Given the description of an element on the screen output the (x, y) to click on. 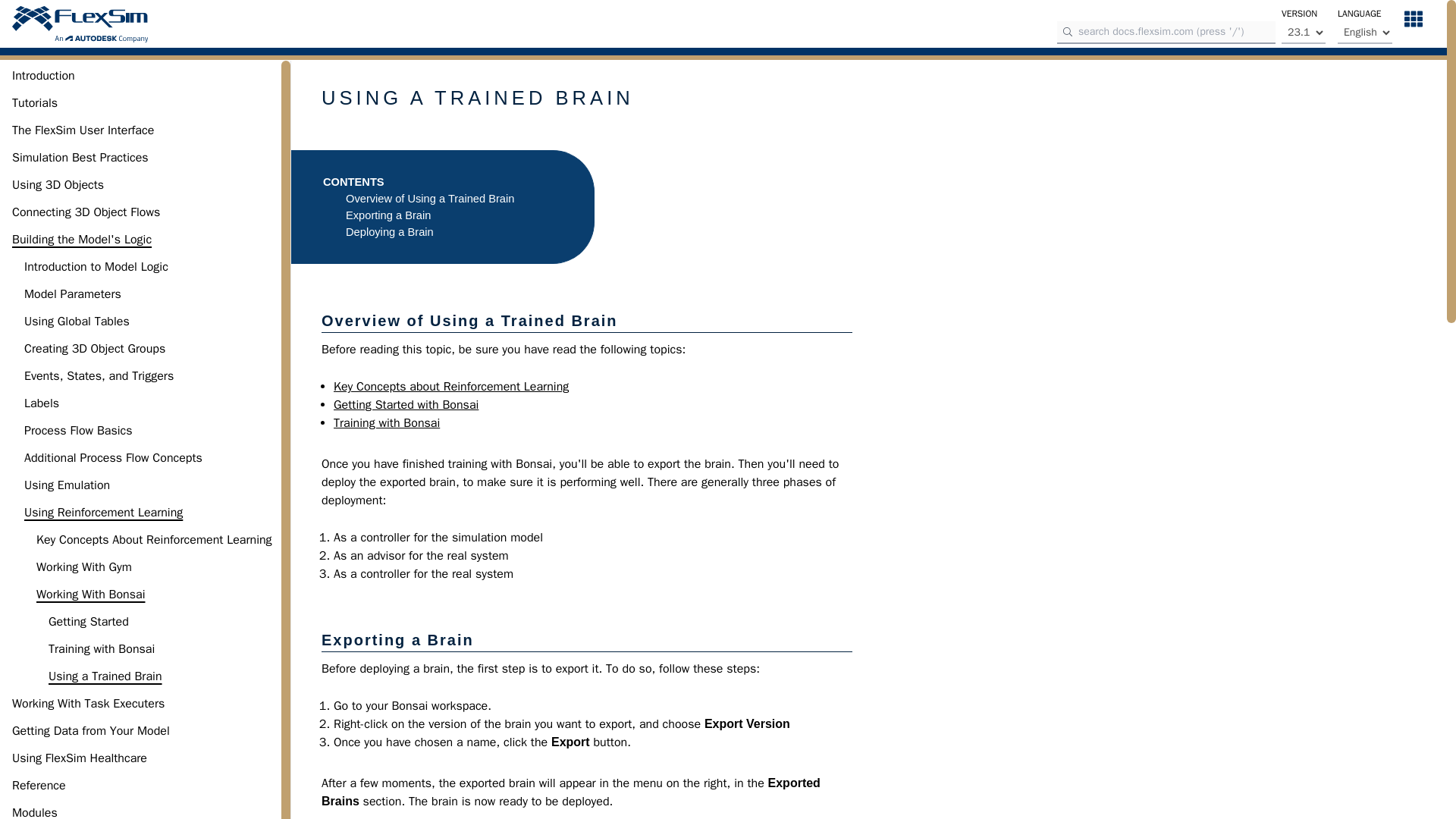
Getting Started (88, 621)
The FlexSim User Interface (82, 130)
Working With Gym (84, 566)
Deploying a Brain (389, 232)
Using Emulation (67, 484)
Training with Bonsai (101, 648)
Using FlexSim Healthcare (79, 758)
Working With Bonsai (90, 594)
Using 3D Objects (57, 185)
Building the Model's Logic (81, 239)
Exporting a Brain (388, 215)
Additional Process Flow Concepts (113, 457)
Labels (41, 402)
Tutorials (34, 103)
Introduction to Model Logic (96, 266)
